Given the description of an element on the screen output the (x, y) to click on. 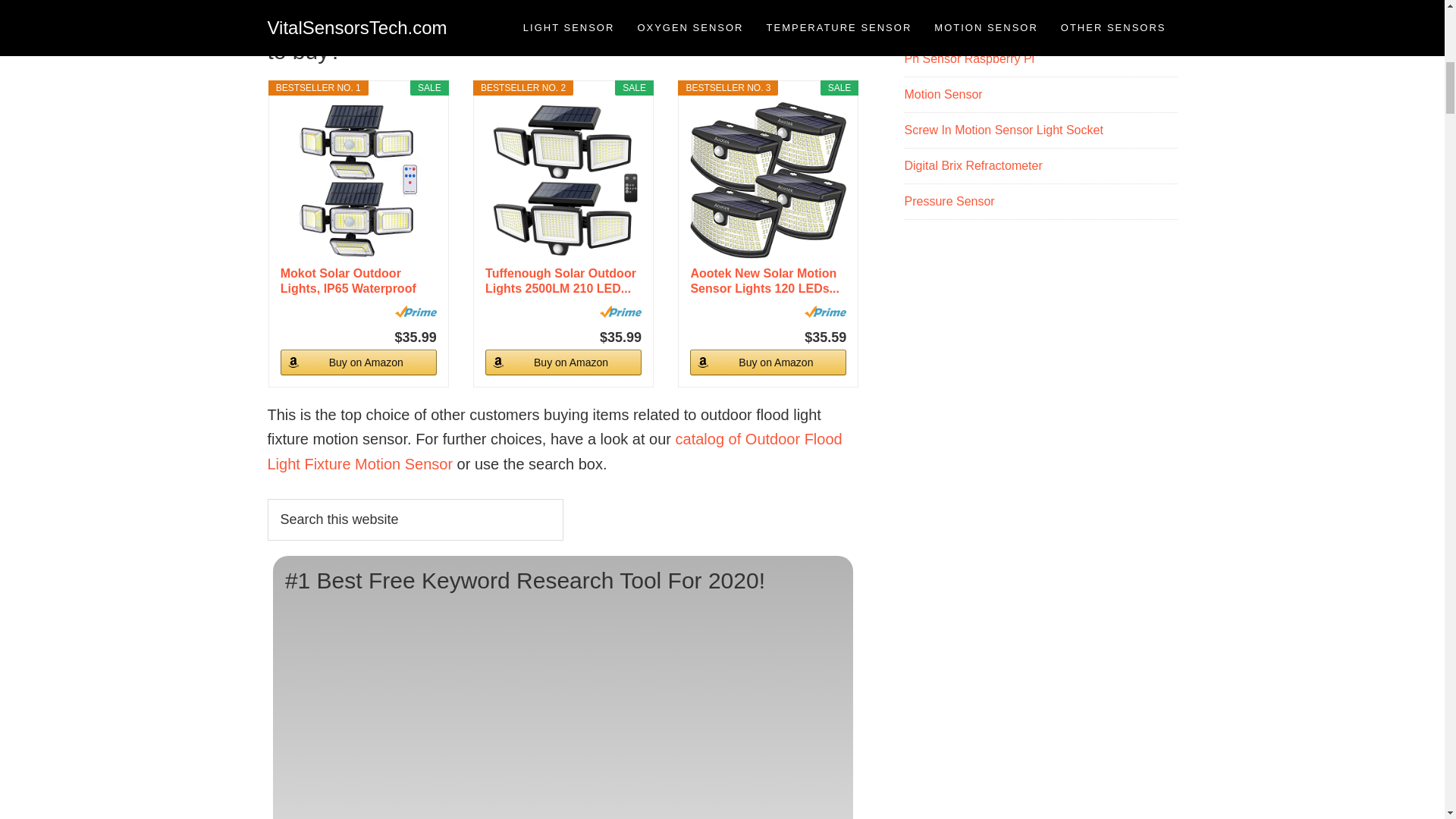
Buy on Amazon (767, 362)
Amazon Prime (825, 311)
Amazon Prime (620, 311)
Buy on Amazon (358, 362)
Buy on Amazon (563, 362)
Amazon Prime (415, 311)
